Given the description of an element on the screen output the (x, y) to click on. 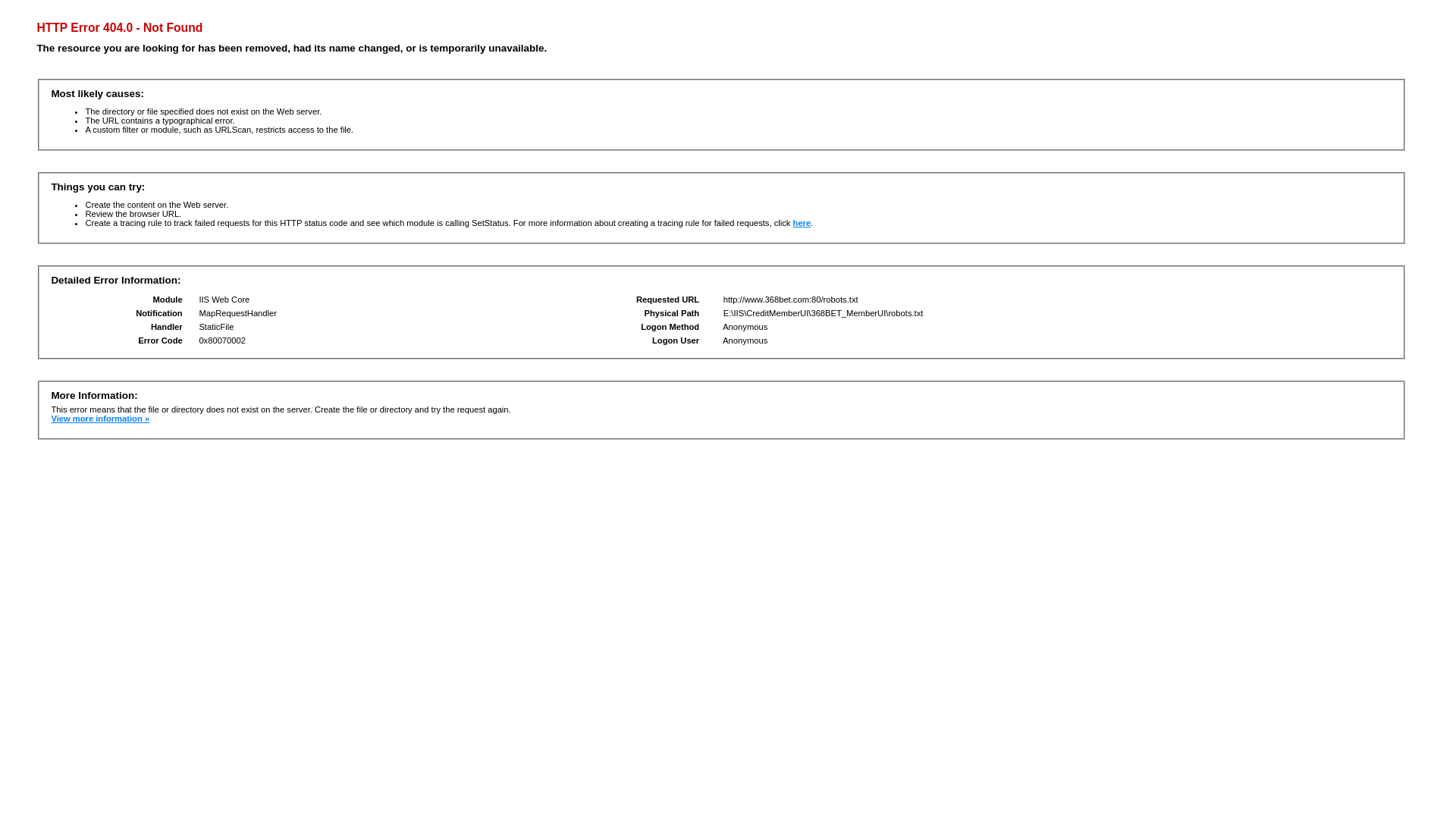
here Element type: text (802, 222)
